Given the description of an element on the screen output the (x, y) to click on. 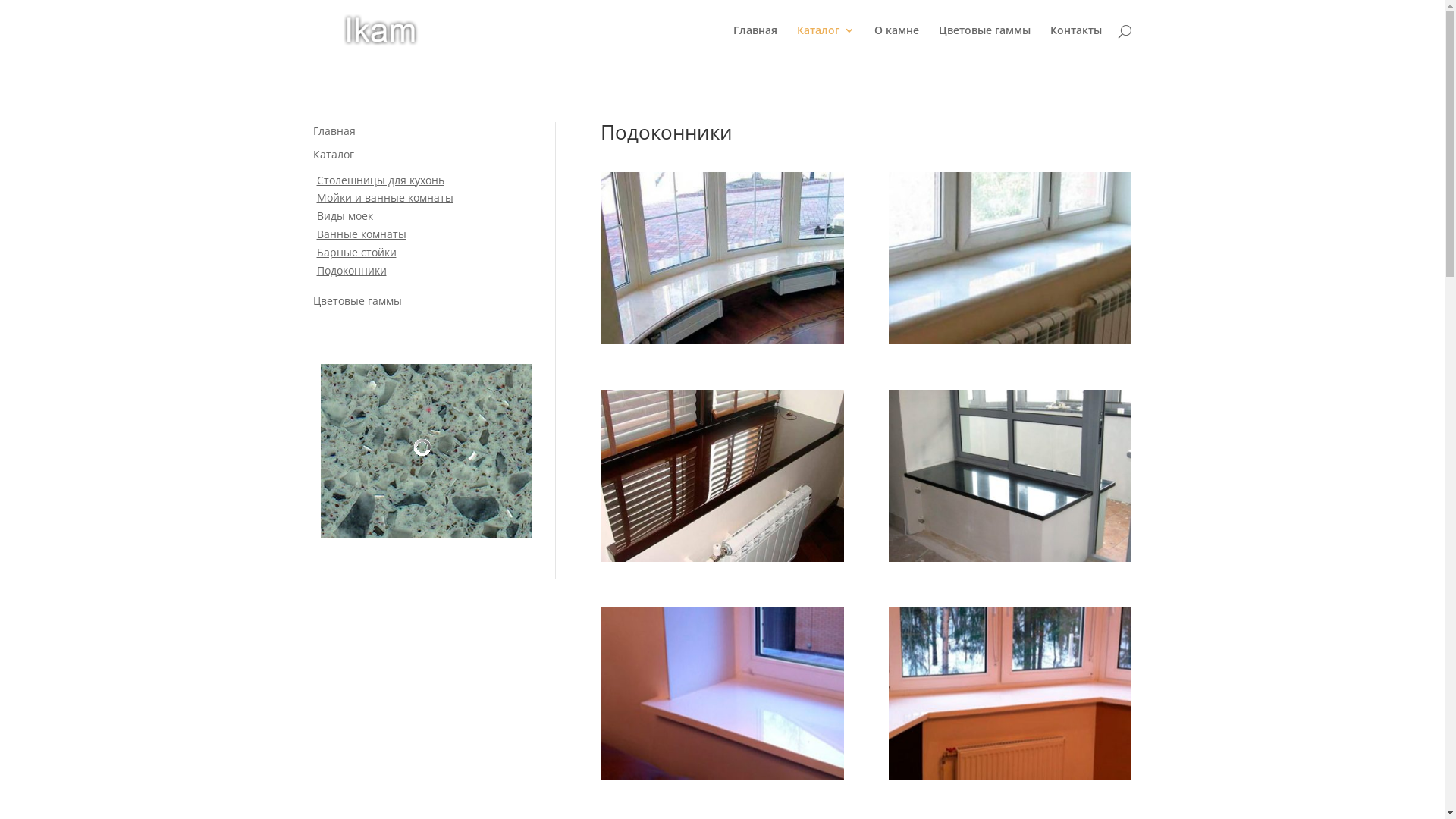
2-min Element type: hover (1009, 775)
4-min Element type: hover (721, 339)
9-min Element type: hover (721, 557)
18-min Element type: hover (721, 775)
6-min Element type: hover (1009, 557)
5-min Element type: hover (1009, 339)
